Given the description of an element on the screen output the (x, y) to click on. 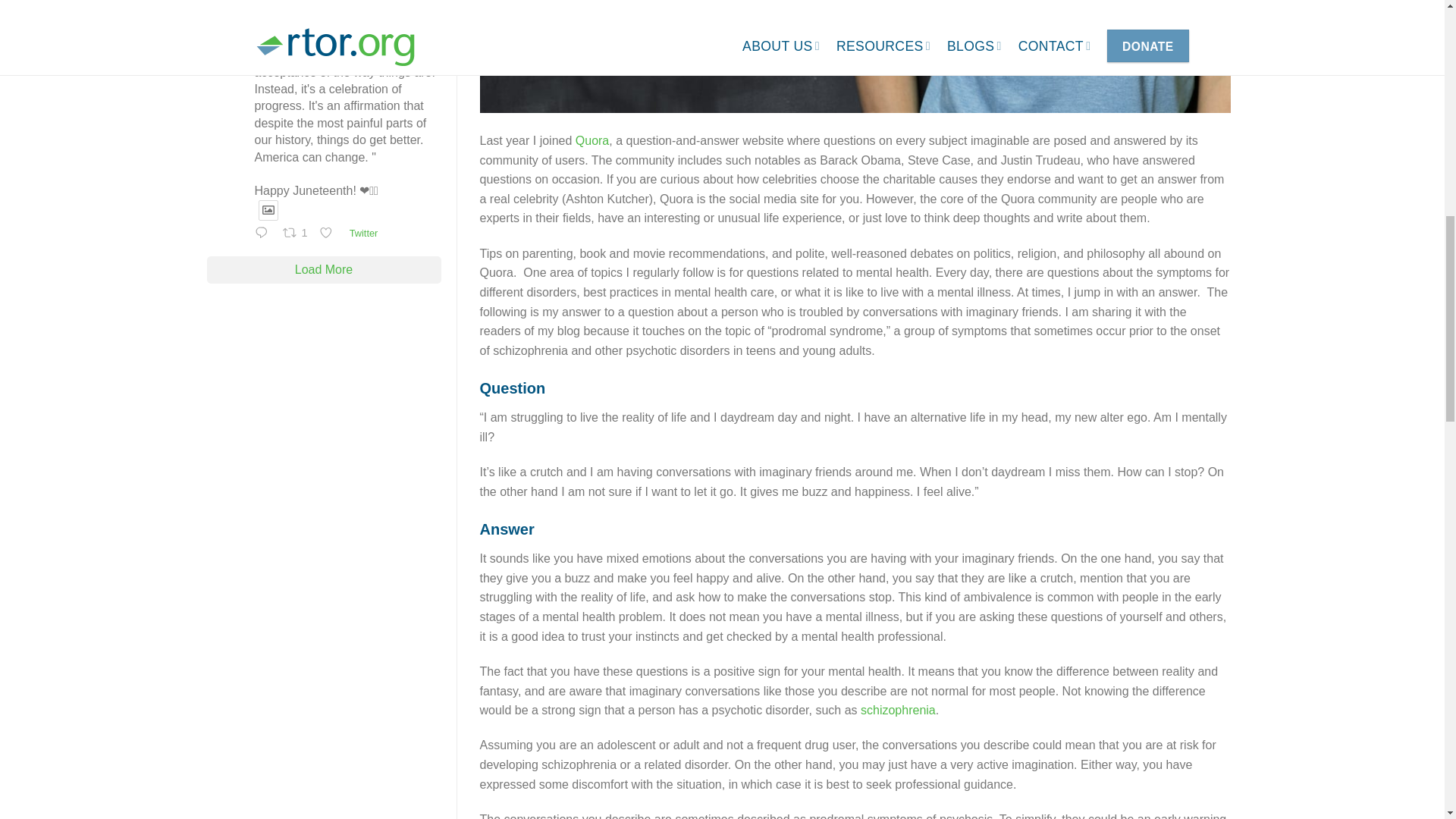
Resources to Recover (320, 4)
19 Jun (278, 18)
